Given the description of an element on the screen output the (x, y) to click on. 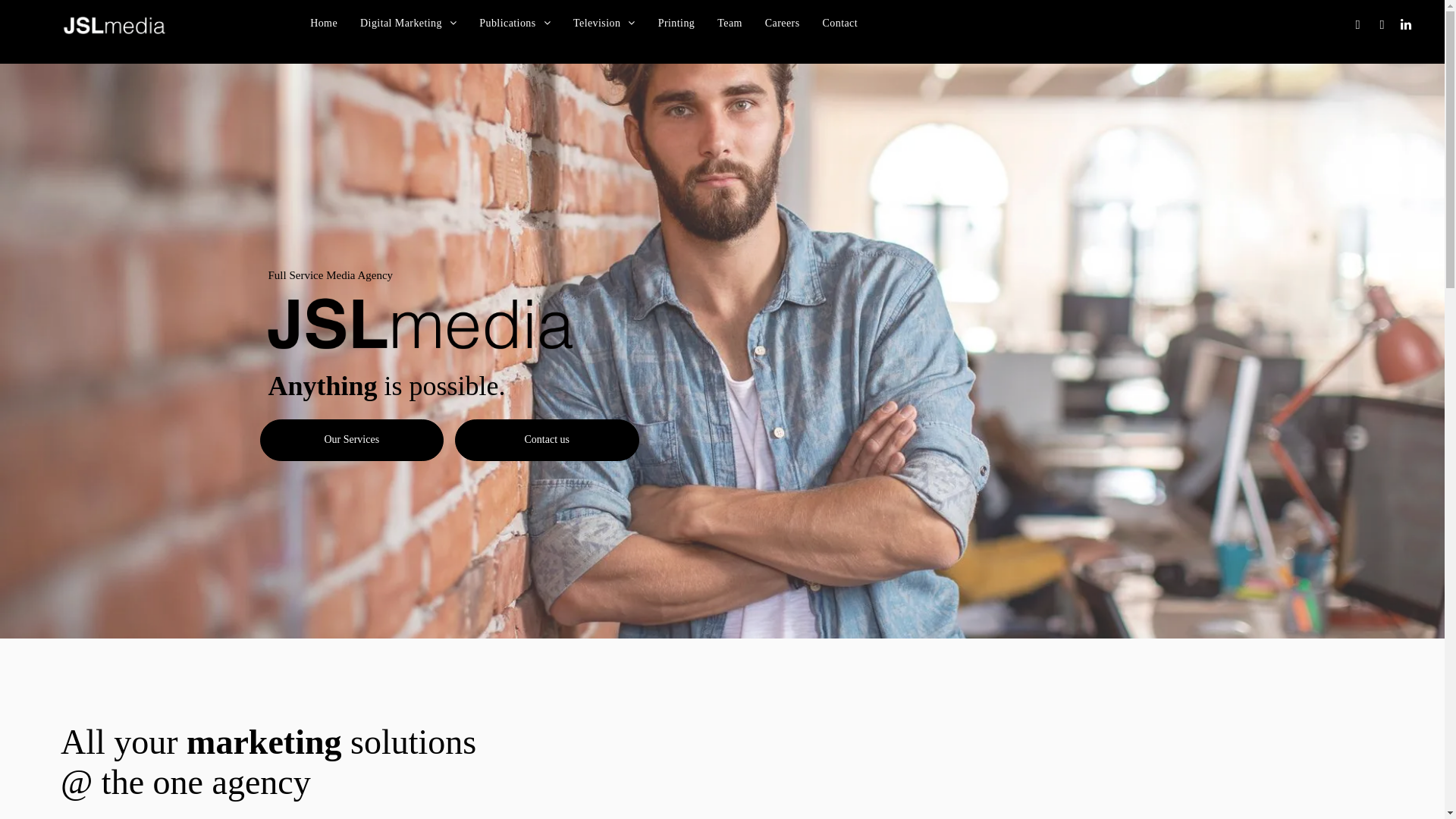
Careers Element type: text (782, 23)
Our Services Element type: text (351, 440)
Television Element type: text (603, 23)
Digital Marketing Element type: text (407, 23)
Team Element type: text (729, 23)
Home Element type: text (323, 23)
Contact us Element type: text (547, 440)
Publications Element type: text (514, 23)
Printing Element type: text (676, 23)
Contact Element type: text (840, 23)
